Given the description of an element on the screen output the (x, y) to click on. 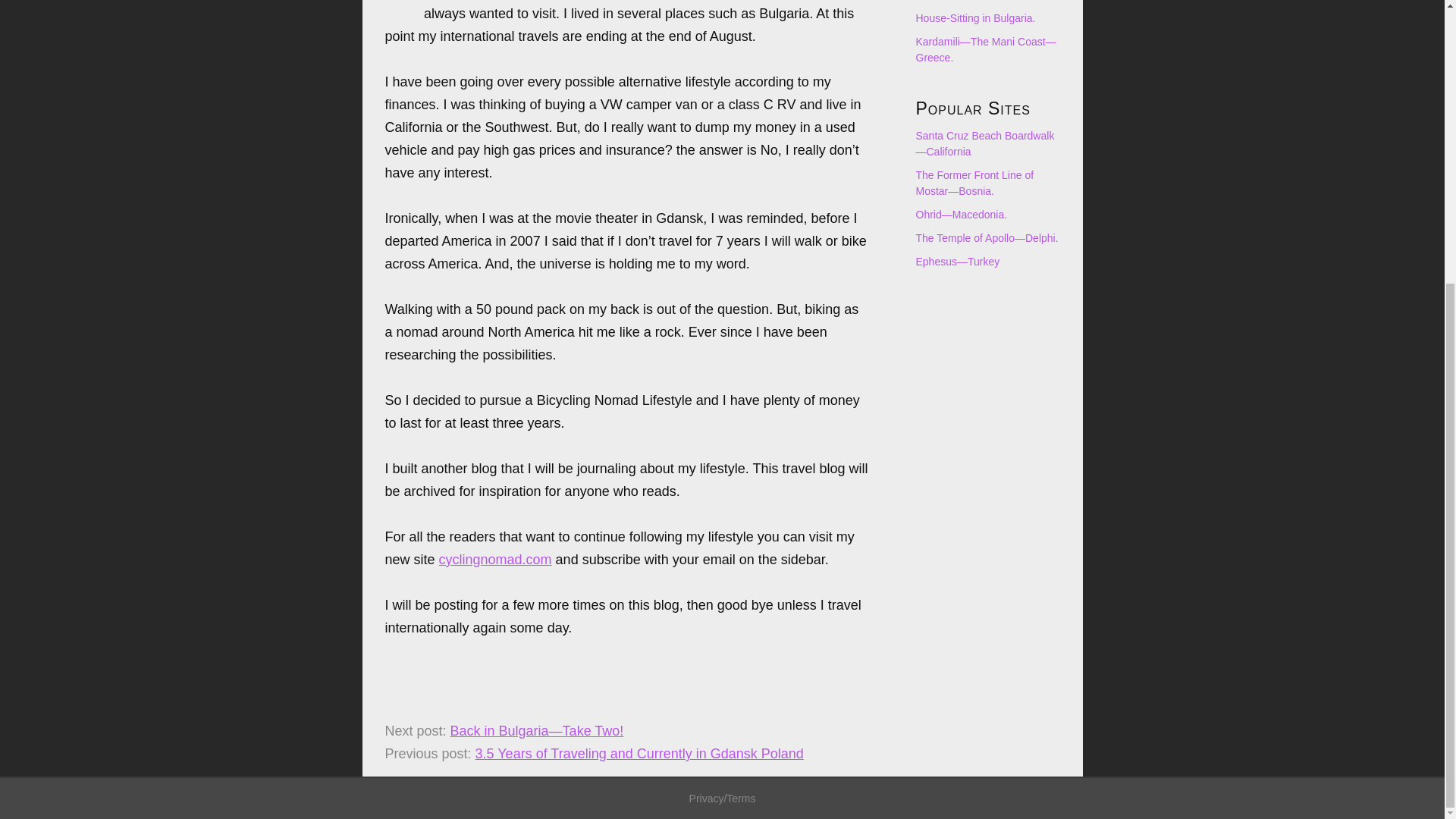
Read House-Sitting in Bulgaria. (975, 18)
cyclingnomad.com (495, 559)
3.5 Years of Traveling and Currently in Gdansk Poland (639, 753)
House-Sitting in Bulgaria. (975, 18)
